Given the description of an element on the screen output the (x, y) to click on. 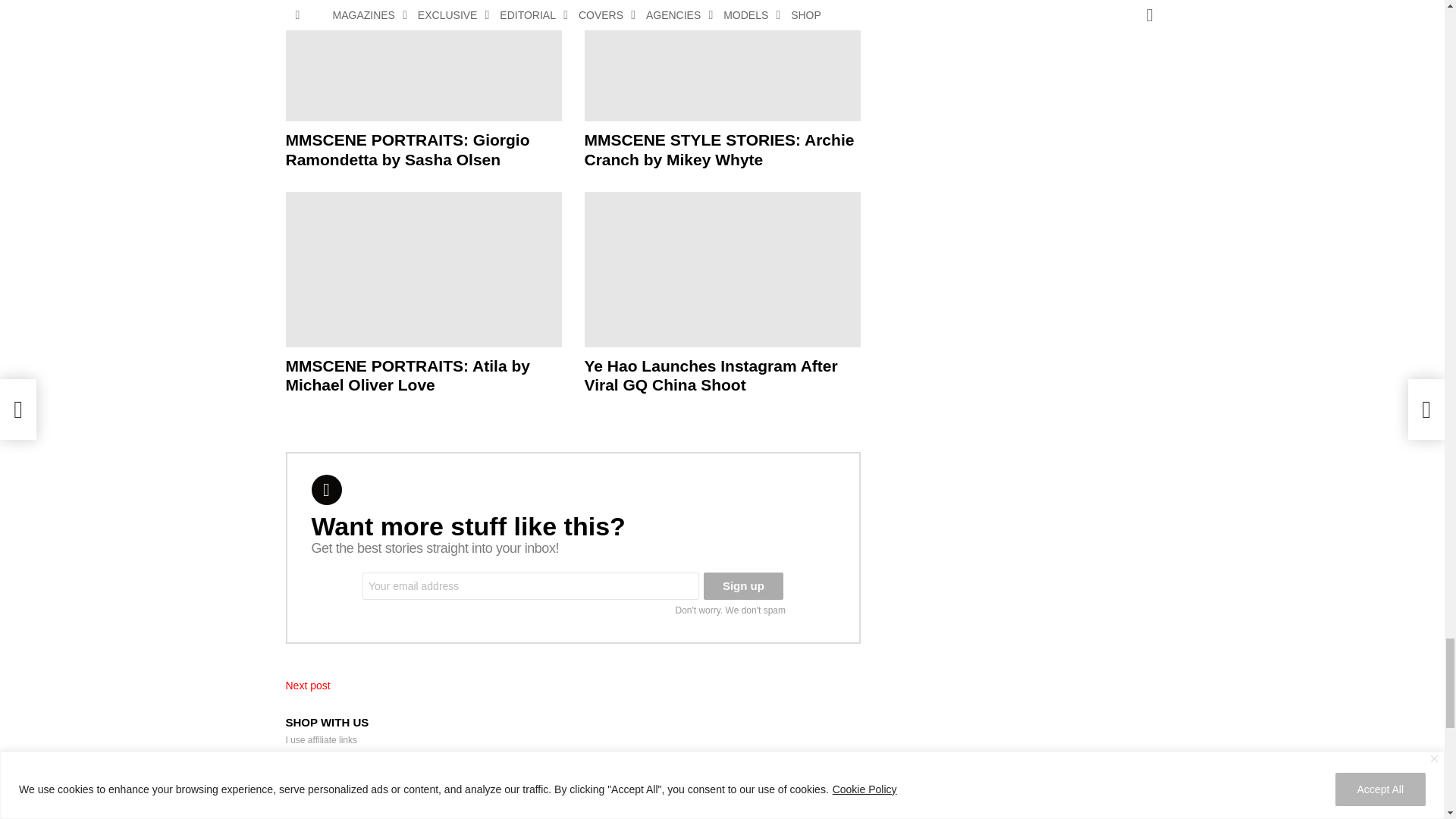
Sign up (743, 585)
